Given the description of an element on the screen output the (x, y) to click on. 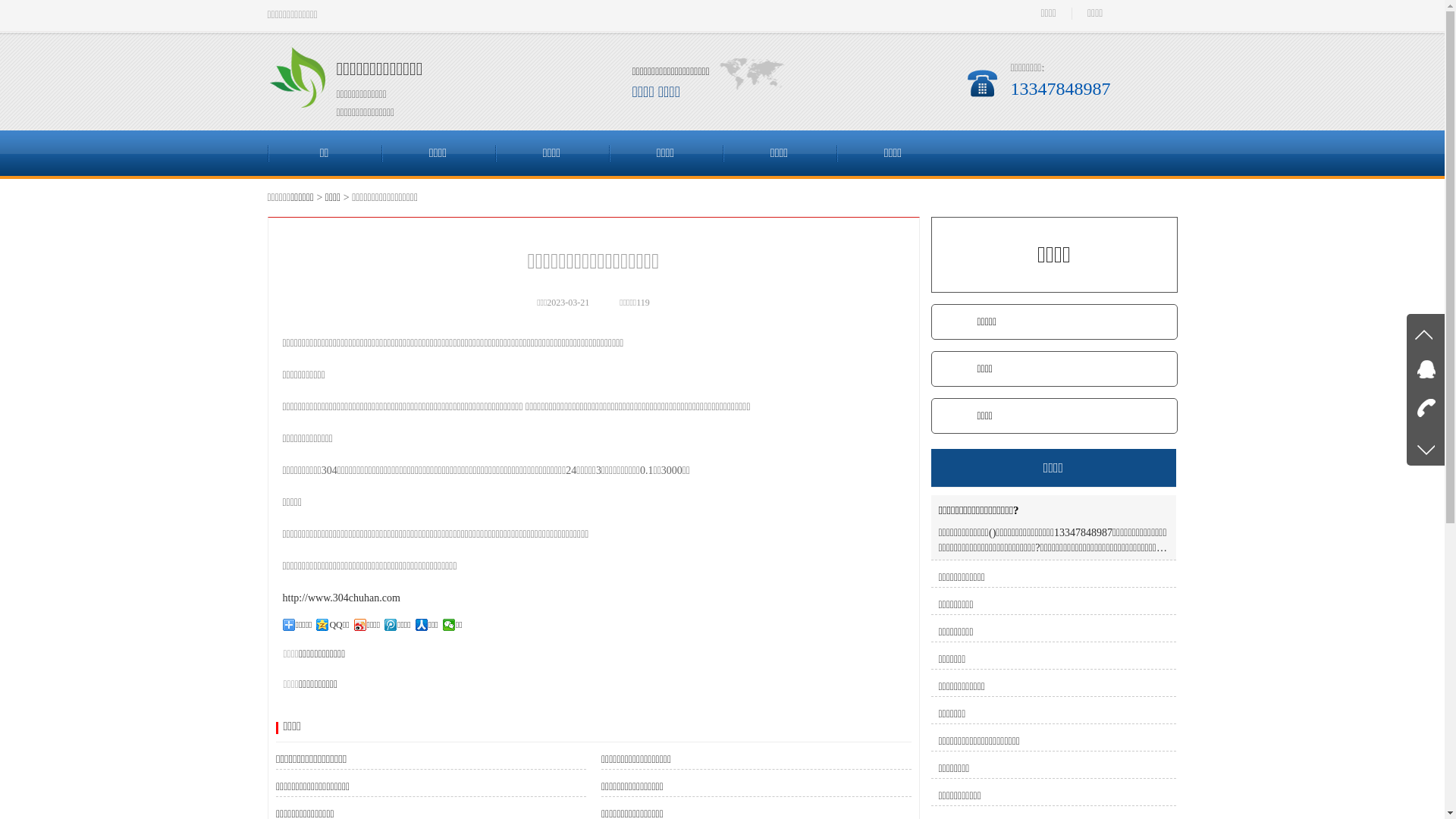
http://www.304chuhan.com Element type: text (340, 597)
